Given the description of an element on the screen output the (x, y) to click on. 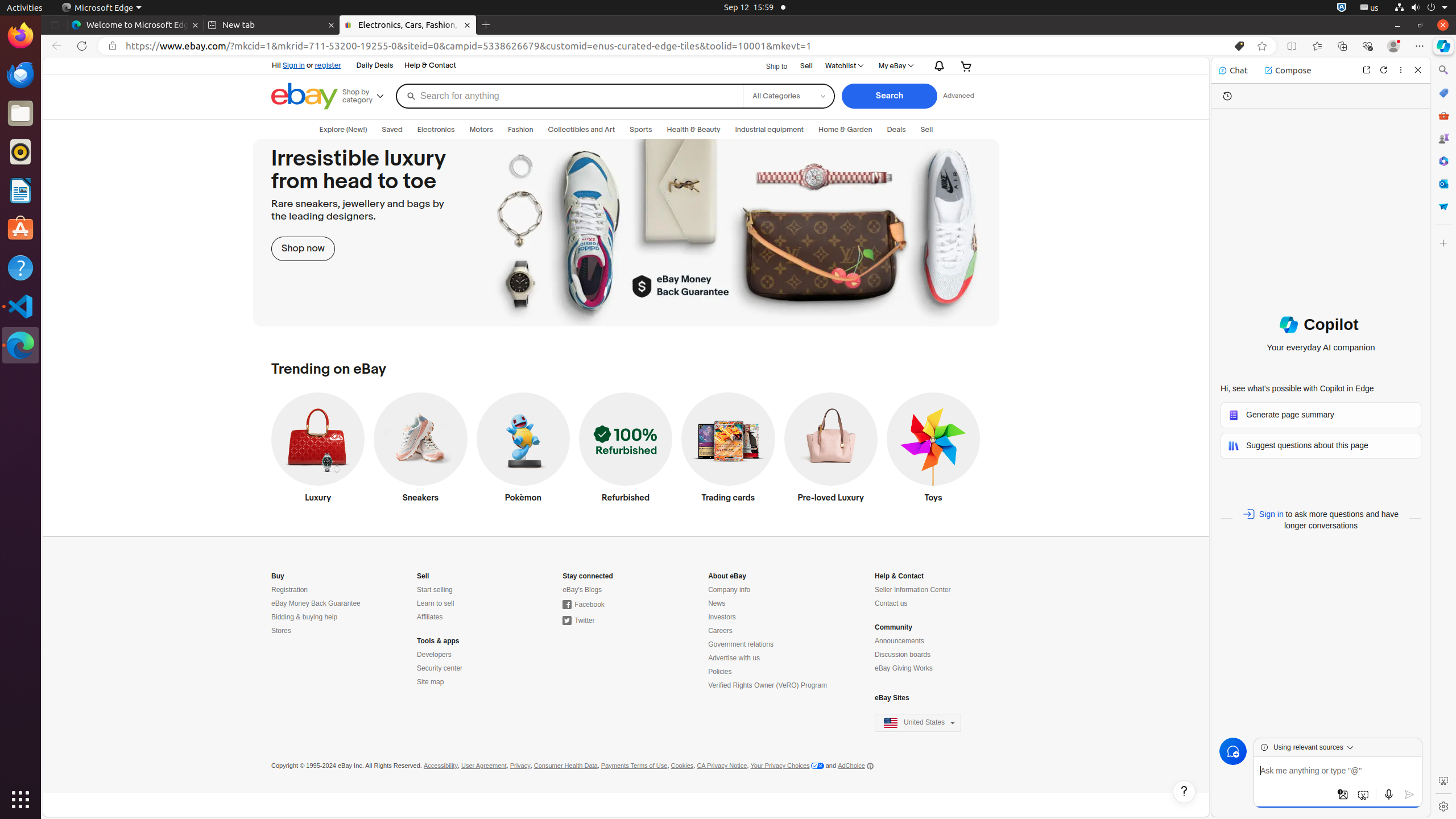
Discussion boards Element type: link (902, 654)
Saved Element type: link (391, 129)
Copilot (Ctrl+Shift+.) Element type: push-button (1443, 45)
Developers Element type: link (433, 654)
eBay's Blogs Element type: link (582, 589)
